Given the description of an element on the screen output the (x, y) to click on. 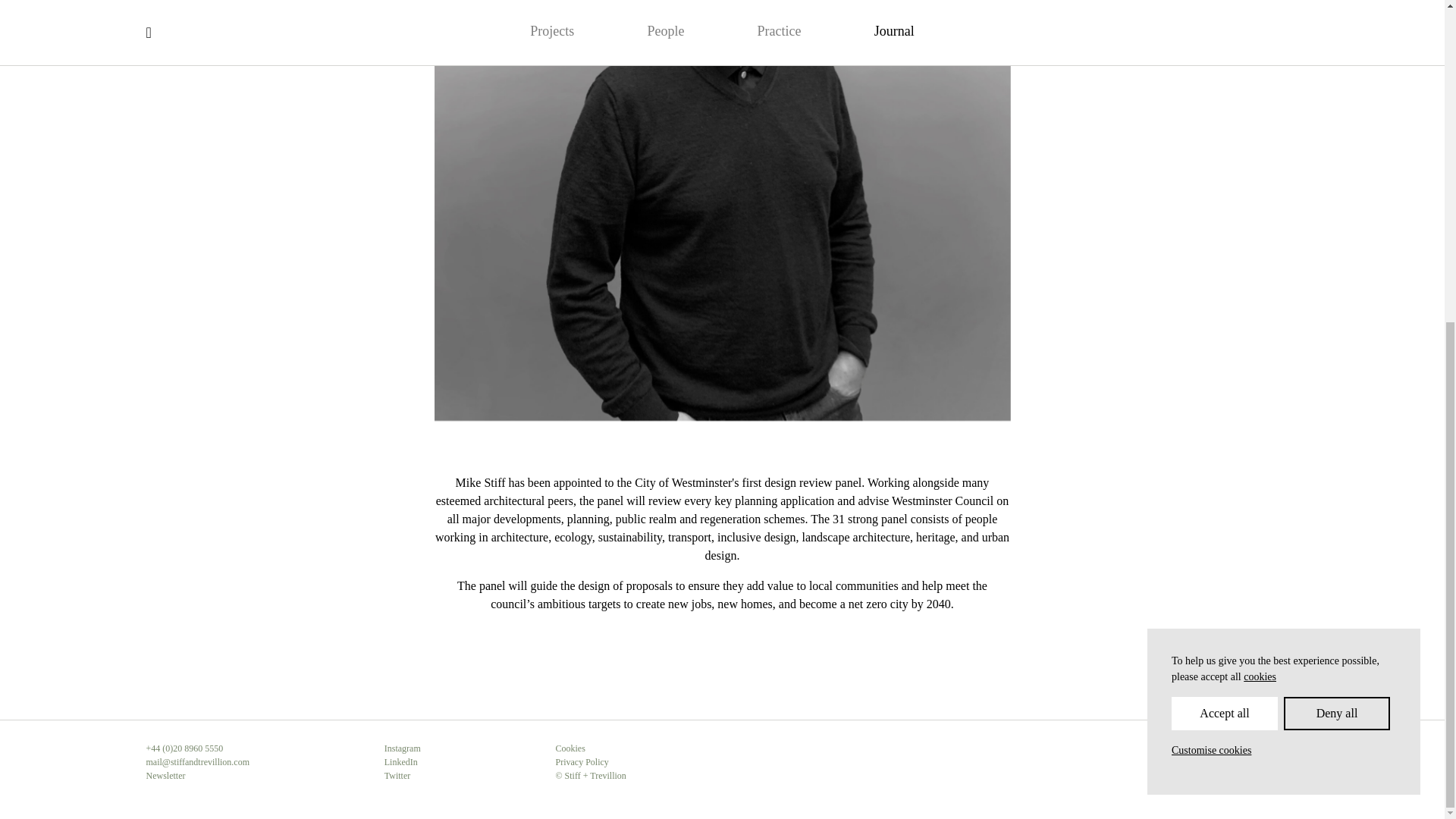
Westminster's first design review panel. (769, 481)
Deny all (1337, 187)
Customise cookies (1211, 224)
Accept all (1225, 187)
cookies (1259, 151)
